Given the description of an element on the screen output the (x, y) to click on. 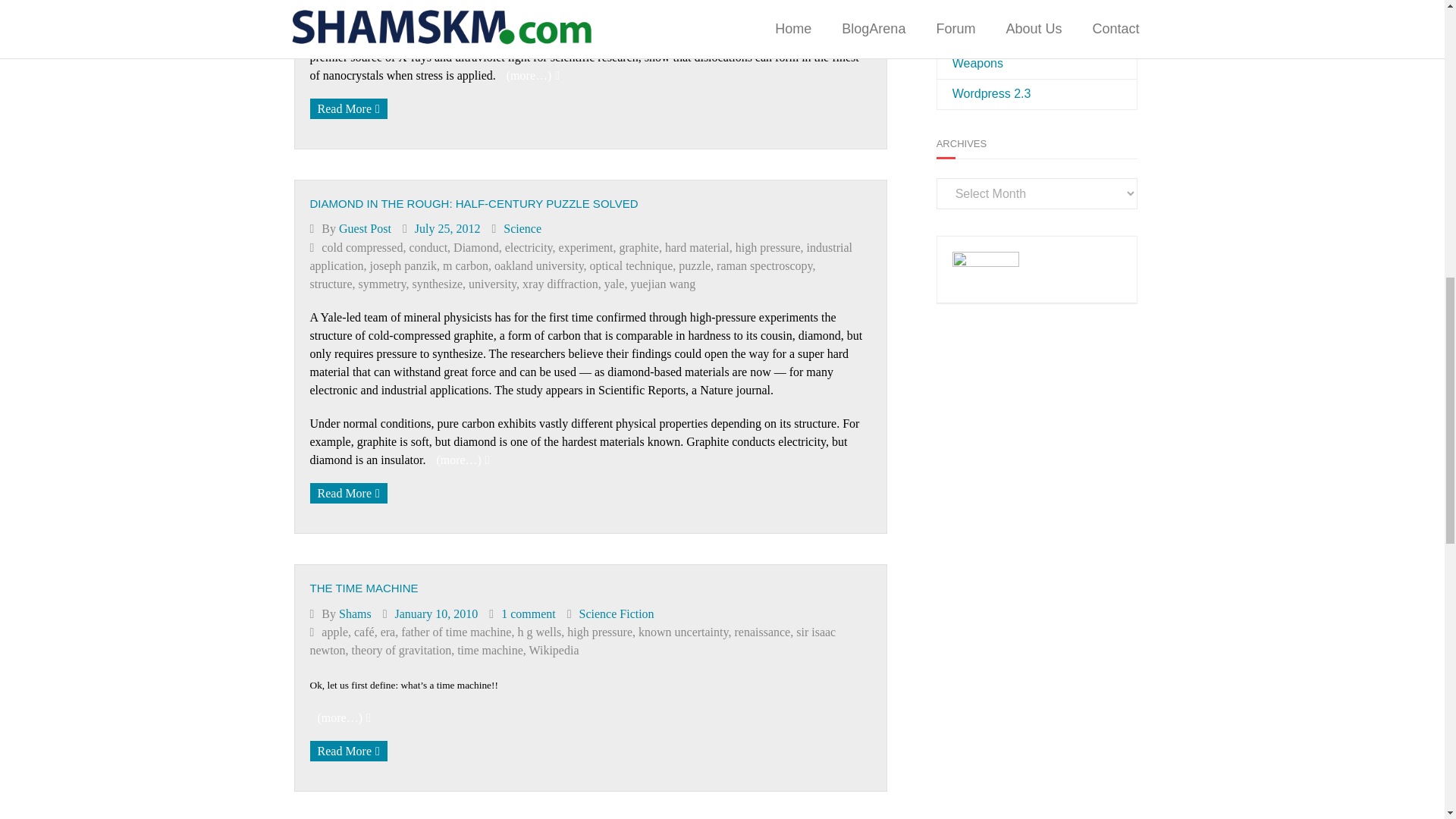
The Time Machine (436, 613)
Diamond in The Rough: Half-Century Puzzle Solved (447, 228)
View all posts by Shams (355, 613)
Permalink to The Time Machine (362, 587)
View all posts by Guest Post (365, 228)
